Given the description of an element on the screen output the (x, y) to click on. 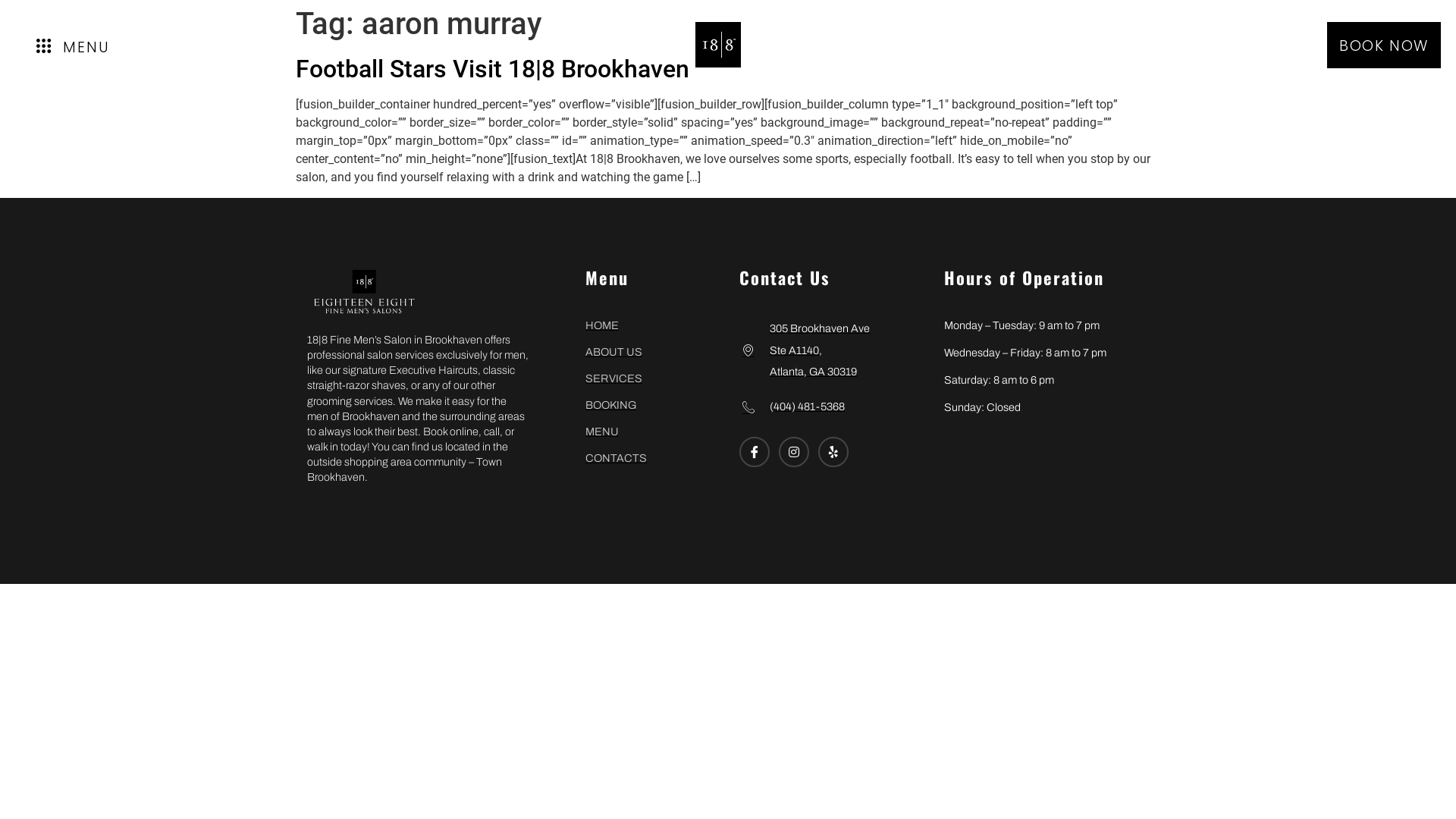
HOME Element type: text (650, 324)
MENU Element type: text (650, 431)
ABOUT US Element type: text (650, 351)
CONTACTS Element type: text (650, 457)
305 Brookhaven Ave
Ste A1140,
Atlanta, GA 30319 Element type: text (833, 349)
(404) 481-5368 Element type: text (833, 406)
BOOKING Element type: text (650, 404)
Football Stars Visit 18|8 Brookhaven Element type: text (492, 68)
MENU Element type: text (100, 46)
SERVICES Element type: text (650, 377)
BOOK NOW Element type: text (1383, 44)
